Given the description of an element on the screen output the (x, y) to click on. 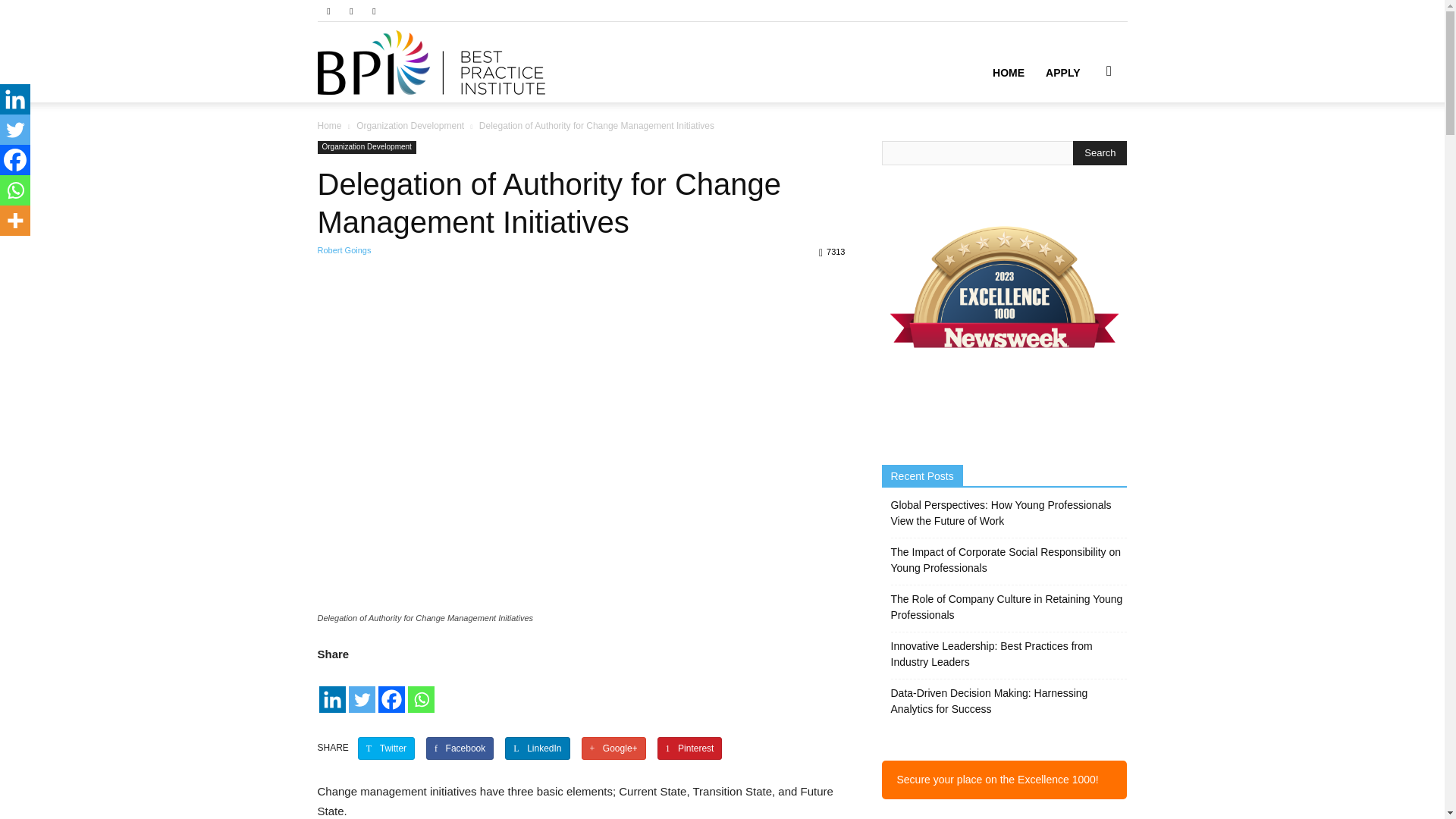
Search (1099, 152)
Share on Facebook (459, 748)
Share on Twitter (386, 748)
Organization Development (365, 146)
Posts by Robert Goings (344, 249)
Best Practice Institute Logo (430, 62)
Robert Goings (344, 249)
Linkedin (350, 10)
Twitter (386, 748)
LinkedIn (537, 748)
View all posts in Organization Development (410, 125)
Pinterest (690, 748)
Facebook (328, 10)
Facebook (459, 748)
Organization Development (410, 125)
